Given the description of an element on the screen output the (x, y) to click on. 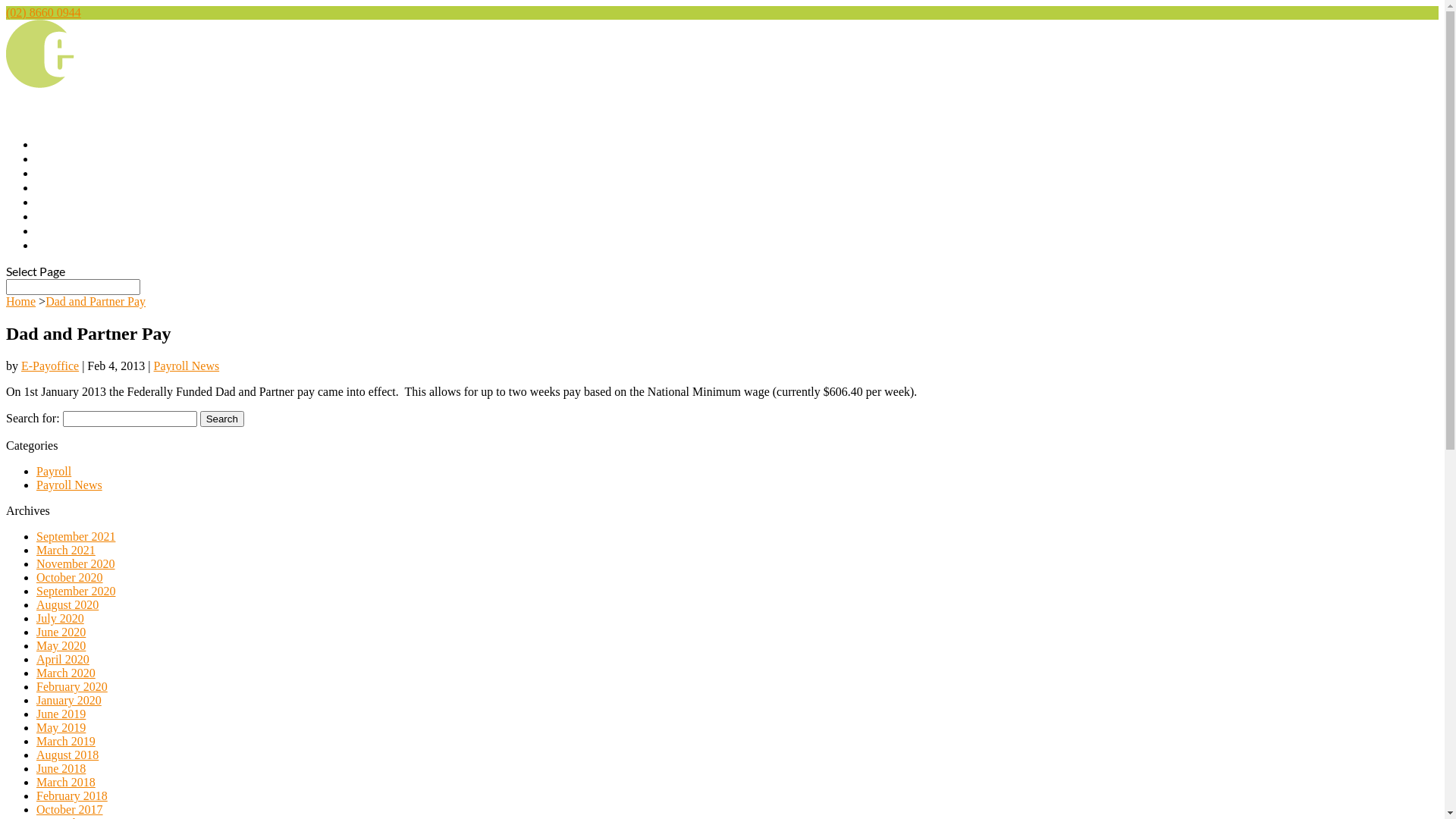
RESOURCES Element type: text (70, 261)
Home Element type: text (20, 300)
CONTACT Element type: text (64, 246)
June 2019 Element type: text (60, 713)
E-Payoffice Element type: text (49, 365)
ABOUT Element type: text (57, 174)
February 2020 Element type: text (71, 686)
February 2018 Element type: text (71, 795)
BLOG Element type: text (52, 232)
November 2020 Element type: text (75, 563)
September 2020 Element type: text (75, 590)
Payroll News Element type: text (69, 484)
August 2018 Element type: text (67, 754)
Payroll Element type: text (53, 470)
October 2020 Element type: text (69, 577)
April 2020 Element type: text (62, 658)
March 2021 Element type: text (65, 549)
March 2019 Element type: text (65, 740)
August 2020 Element type: text (67, 604)
July 2020 Element type: text (60, 617)
May 2019 Element type: text (60, 727)
Payroll News Element type: text (186, 365)
June 2020 Element type: text (60, 631)
HOME Element type: text (54, 160)
May 2020 Element type: text (60, 645)
September 2021 Element type: text (75, 536)
March 2020 Element type: text (65, 672)
Search Element type: text (222, 418)
OUTSOURCED PAYROLL Element type: text (104, 203)
October 2017 Element type: text (69, 809)
June 2018 Element type: text (60, 768)
PAYROLL SOFTWARE Element type: text (94, 218)
(02) 8660 0944 Element type: text (43, 12)
Dad and Partner Pay Element type: text (95, 300)
March 2018 Element type: text (65, 781)
WHY E-PAYOFFICE Element type: text (89, 189)
January 2020 Element type: text (68, 699)
Search for: Element type: hover (73, 286)
